Given the description of an element on the screen output the (x, y) to click on. 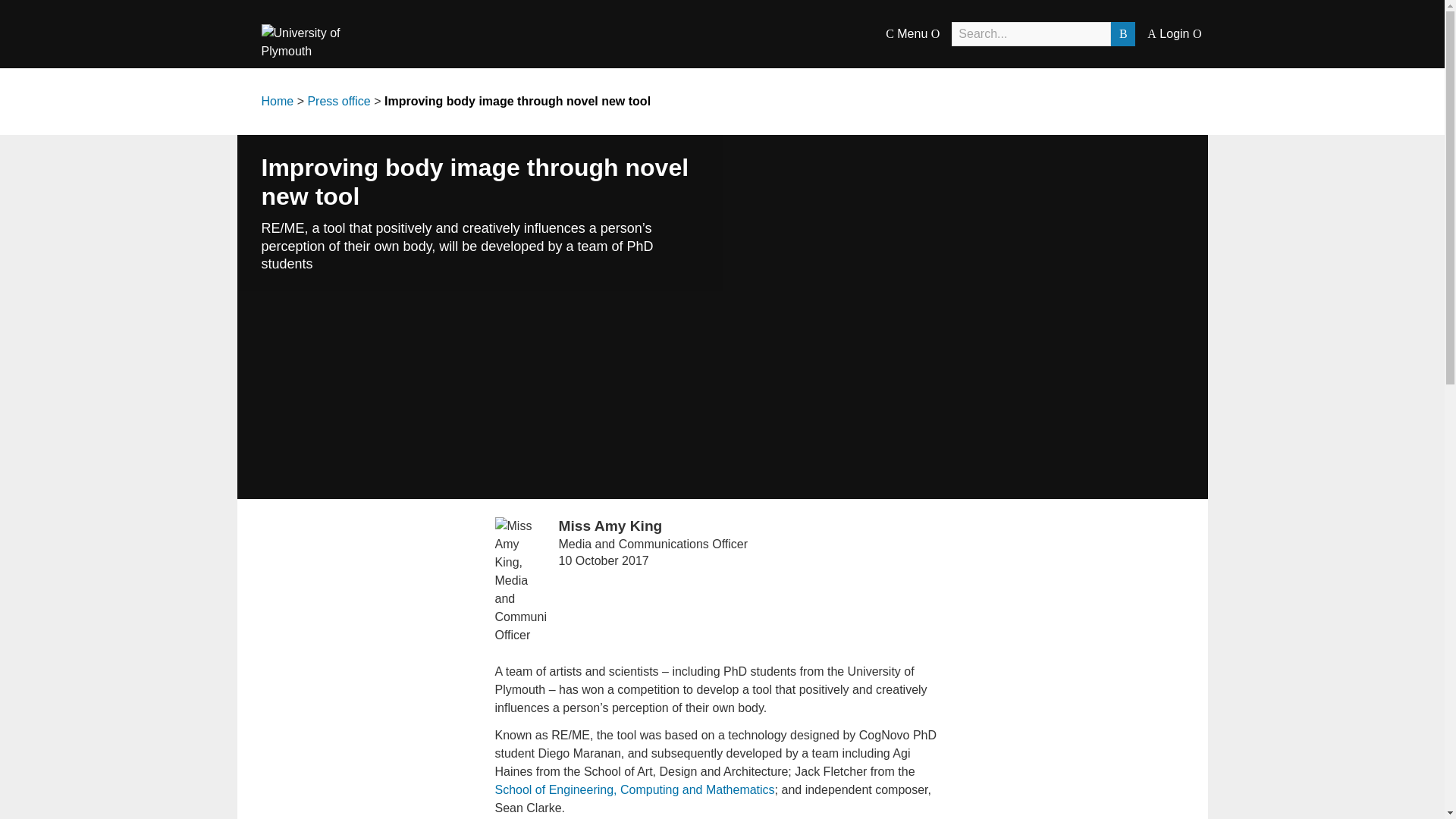
B (1122, 33)
C Menu O (911, 33)
A Login O (1174, 33)
